Given the description of an element on the screen output the (x, y) to click on. 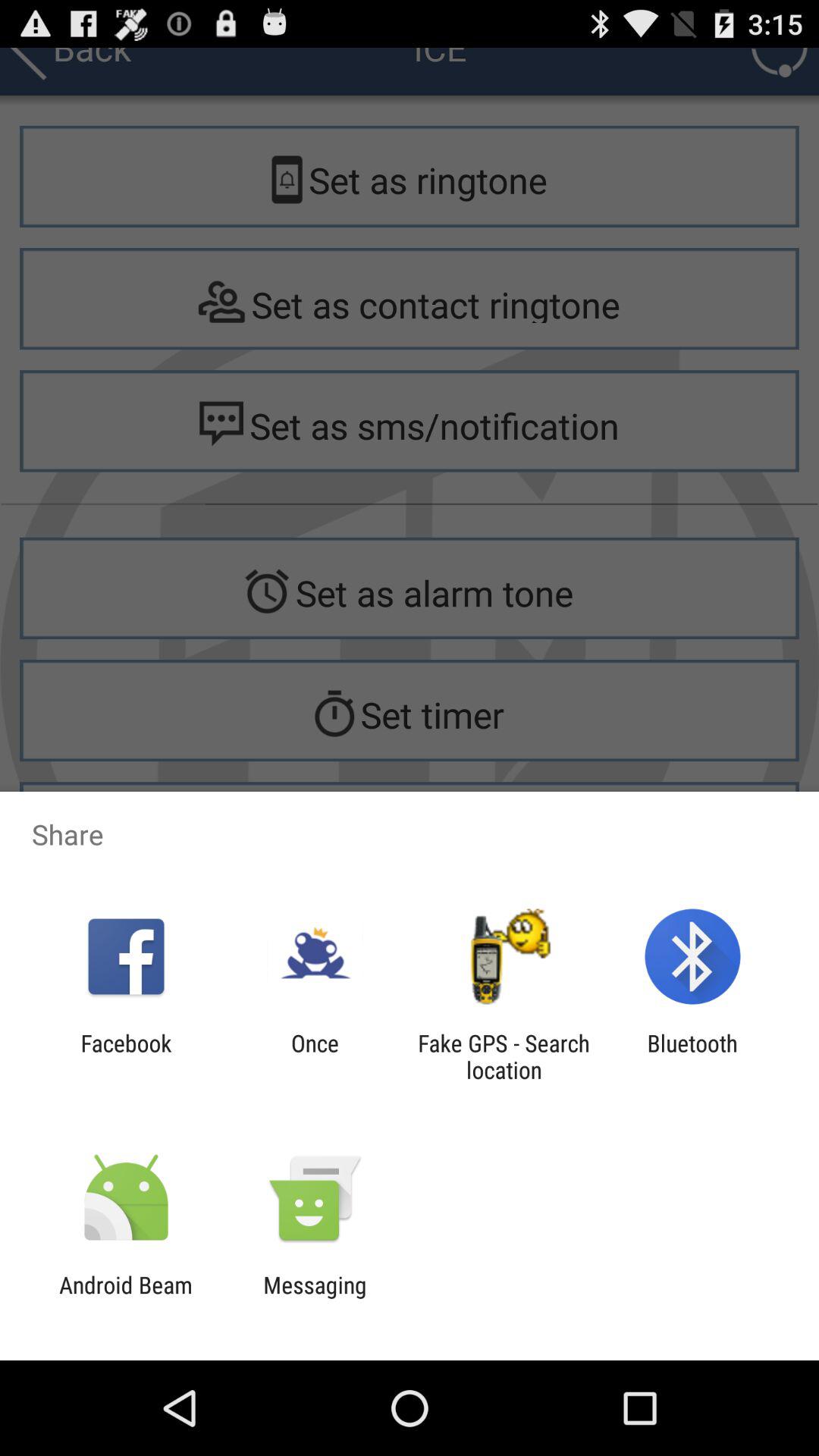
click app next to the fake gps search icon (692, 1056)
